Given the description of an element on the screen output the (x, y) to click on. 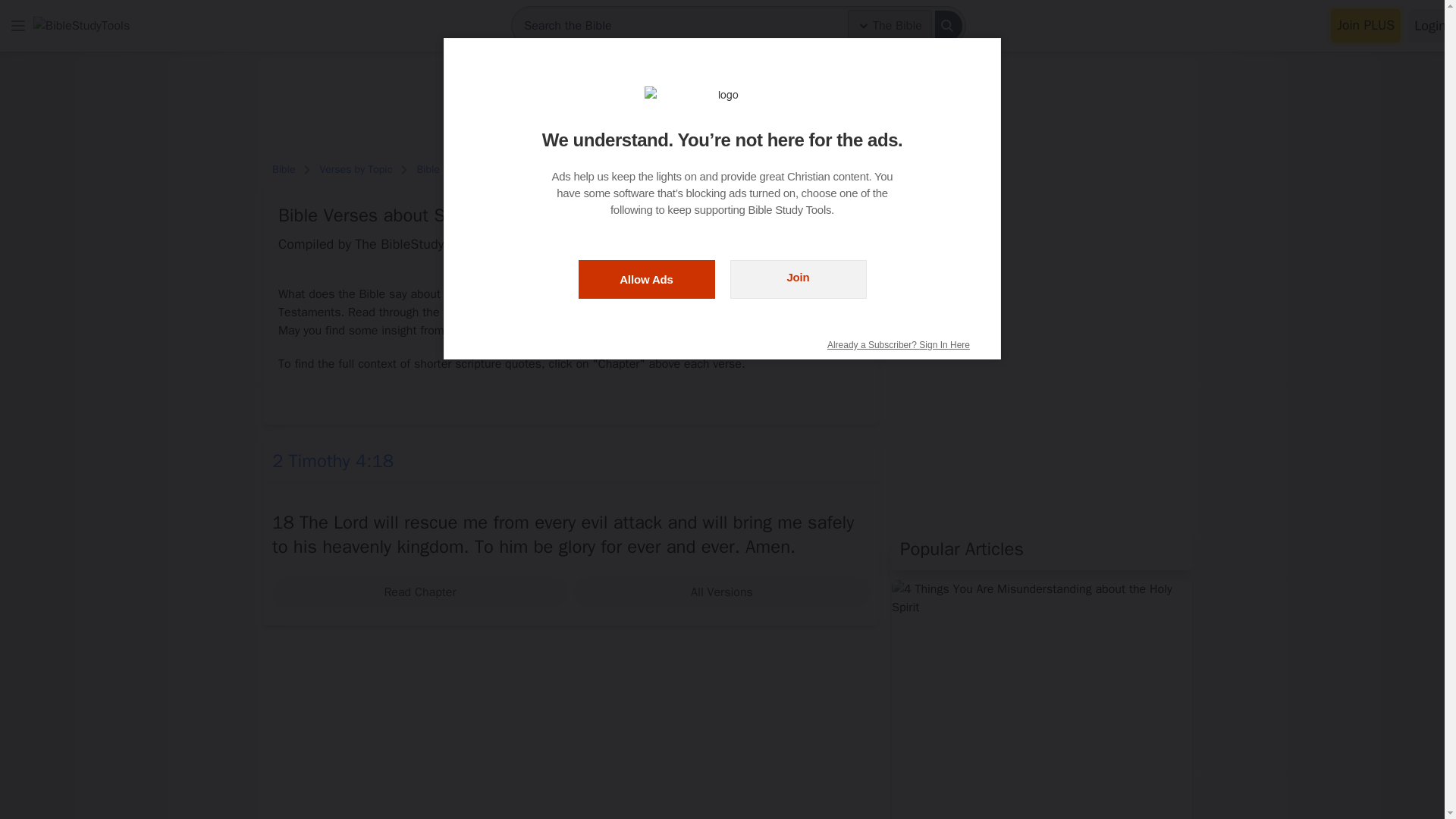
Login (1430, 25)
The Bible (889, 25)
Join PLUS (1365, 25)
